Given the description of an element on the screen output the (x, y) to click on. 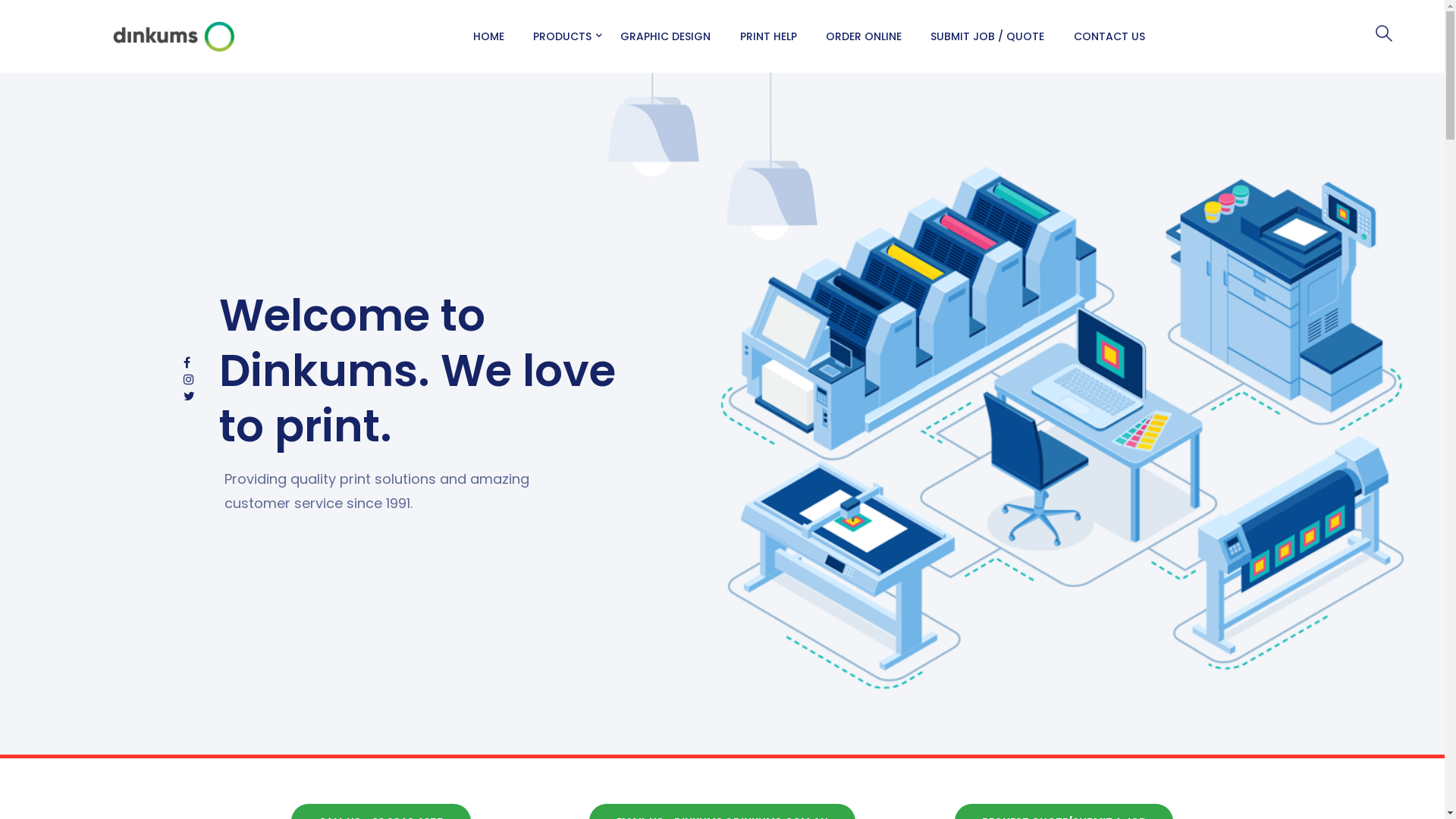
Search Element type: text (9, 9)
HOME Element type: text (487, 36)
ORDER ONLINE Element type: text (863, 36)
CONTACT US Element type: text (296, 583)
GRAPHIC DESIGN Element type: text (664, 36)
PRODUCTS Element type: text (561, 36)
Dinkums Print & Design Element type: hover (173, 34)
PRINT HELP Element type: text (767, 36)
SUBMIT JOB / QUOTE Element type: text (987, 36)
CONTACT US Element type: text (1109, 36)
